Given the description of an element on the screen output the (x, y) to click on. 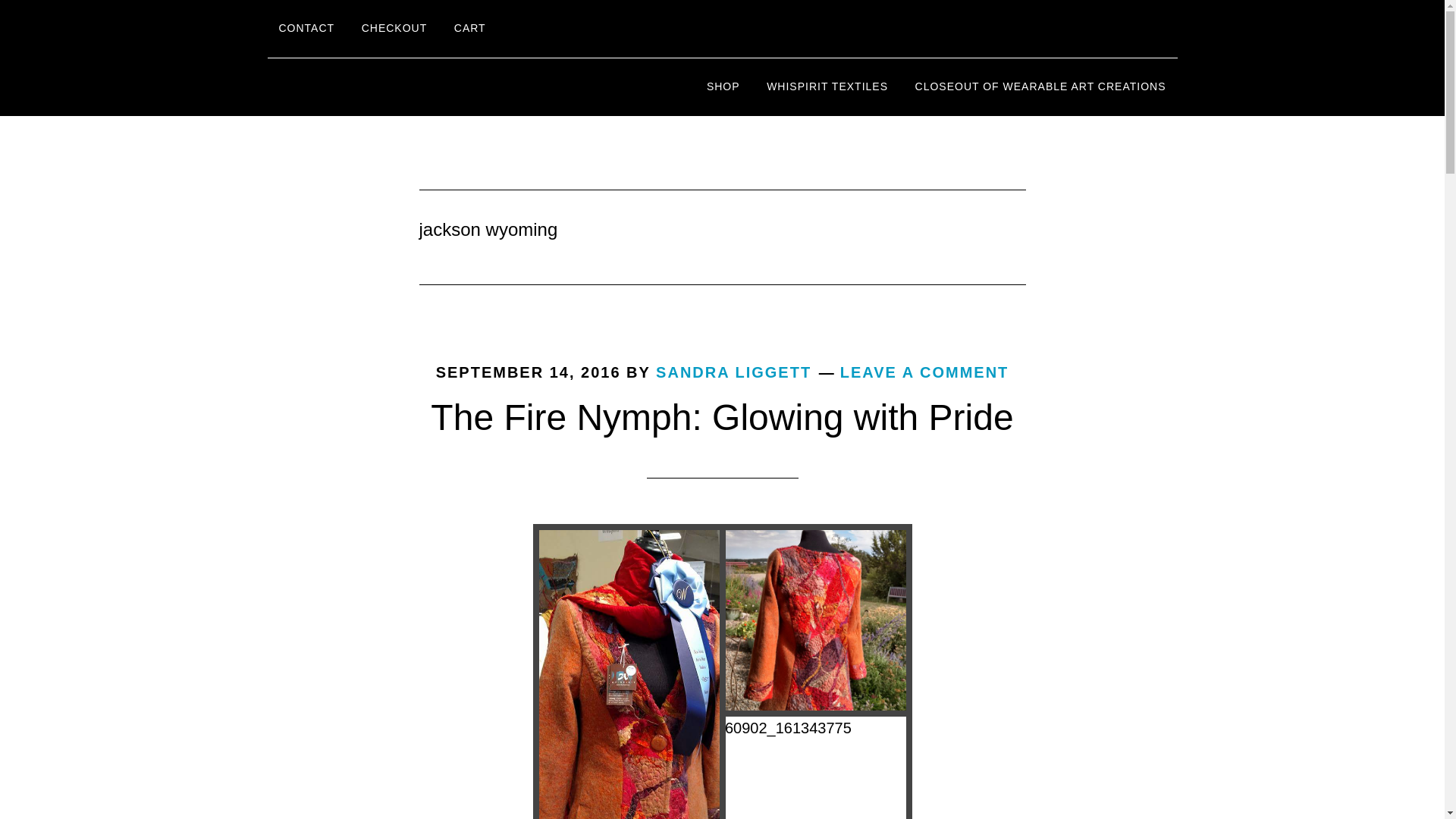
WHISPIRIT (403, 87)
CHECKOUT (394, 28)
LEAVE A COMMENT (924, 371)
CLOSEOUT OF WEARABLE ART CREATIONS (1040, 87)
CART (469, 28)
WHISPIRIT TEXTILES (827, 87)
SHOP (723, 87)
CONTACT (306, 28)
SANDRA LIGGETT (733, 371)
The Fire Nymph: Glowing with Pride (721, 417)
